Given the description of an element on the screen output the (x, y) to click on. 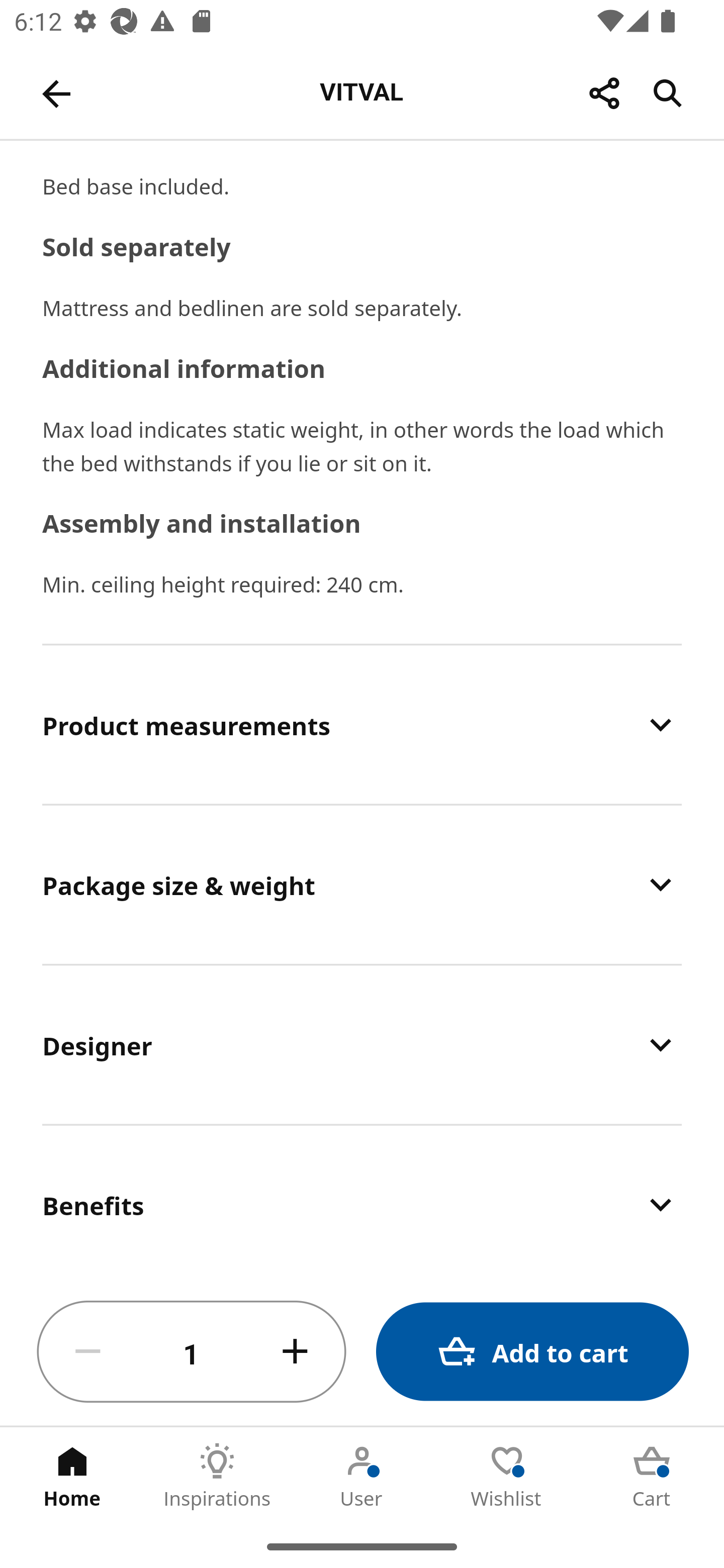
Product measurements (361, 724)
Package size & weight (361, 884)
Designer (361, 1044)
Benefits (361, 1202)
Add to cart (531, 1352)
1 (191, 1352)
Home
Tab 1 of 5 (72, 1476)
Inspirations
Tab 2 of 5 (216, 1476)
User
Tab 3 of 5 (361, 1476)
Wishlist
Tab 4 of 5 (506, 1476)
Cart
Tab 5 of 5 (651, 1476)
